Given the description of an element on the screen output the (x, y) to click on. 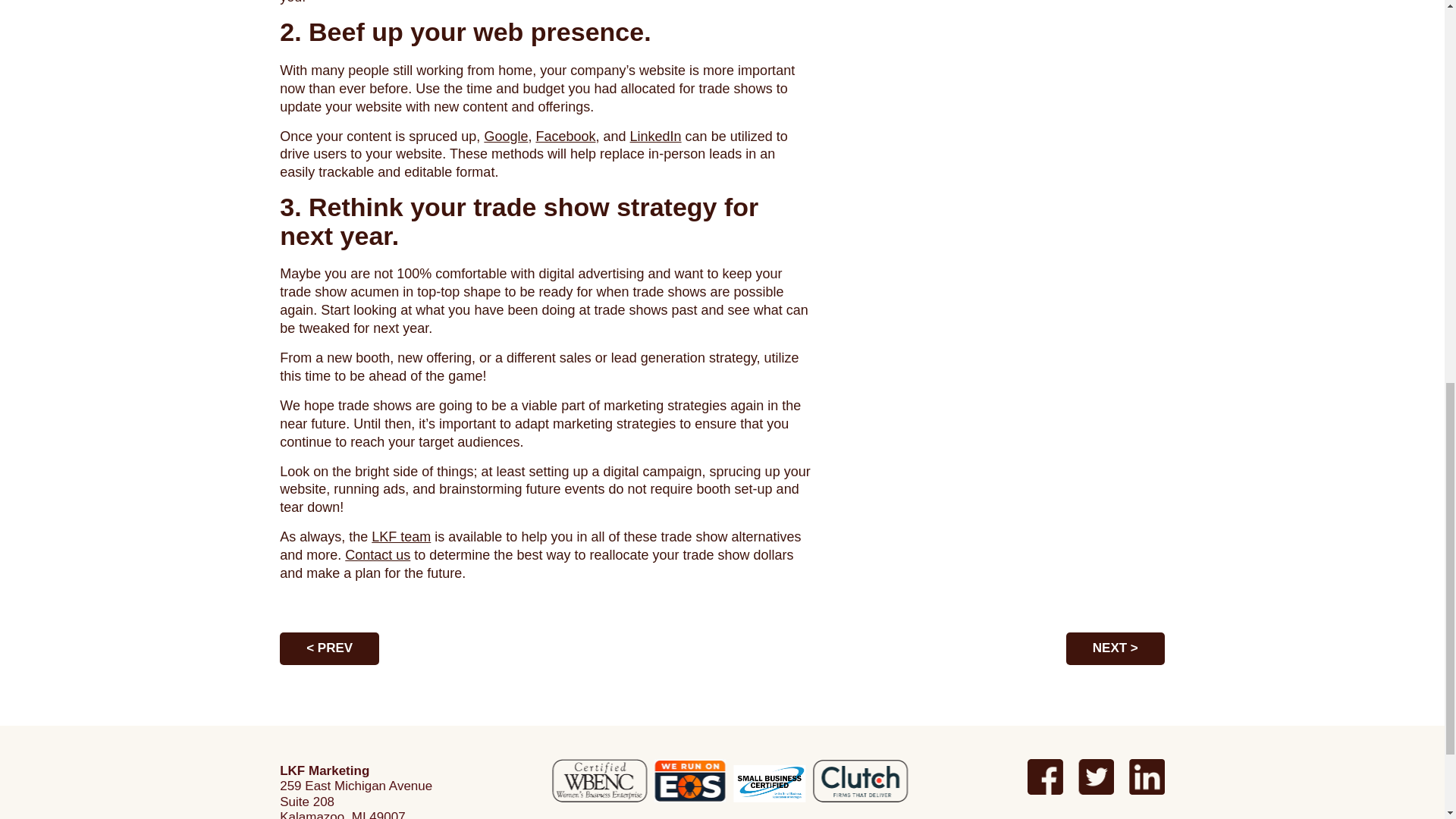
Follow LKF on Facebook (1044, 776)
Google (505, 136)
Facebook (565, 136)
LinkedIn (655, 136)
LKF team (400, 536)
Contact us (377, 554)
Follow LKF on Linkedin (1146, 776)
Follow LKF on Twitter (1095, 776)
